Given the description of an element on the screen output the (x, y) to click on. 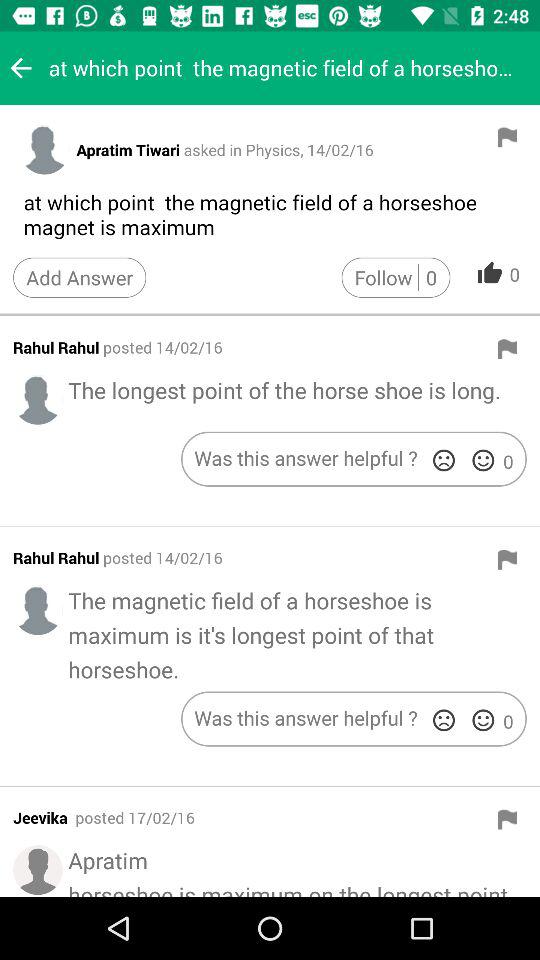
report post (507, 559)
